Given the description of an element on the screen output the (x, y) to click on. 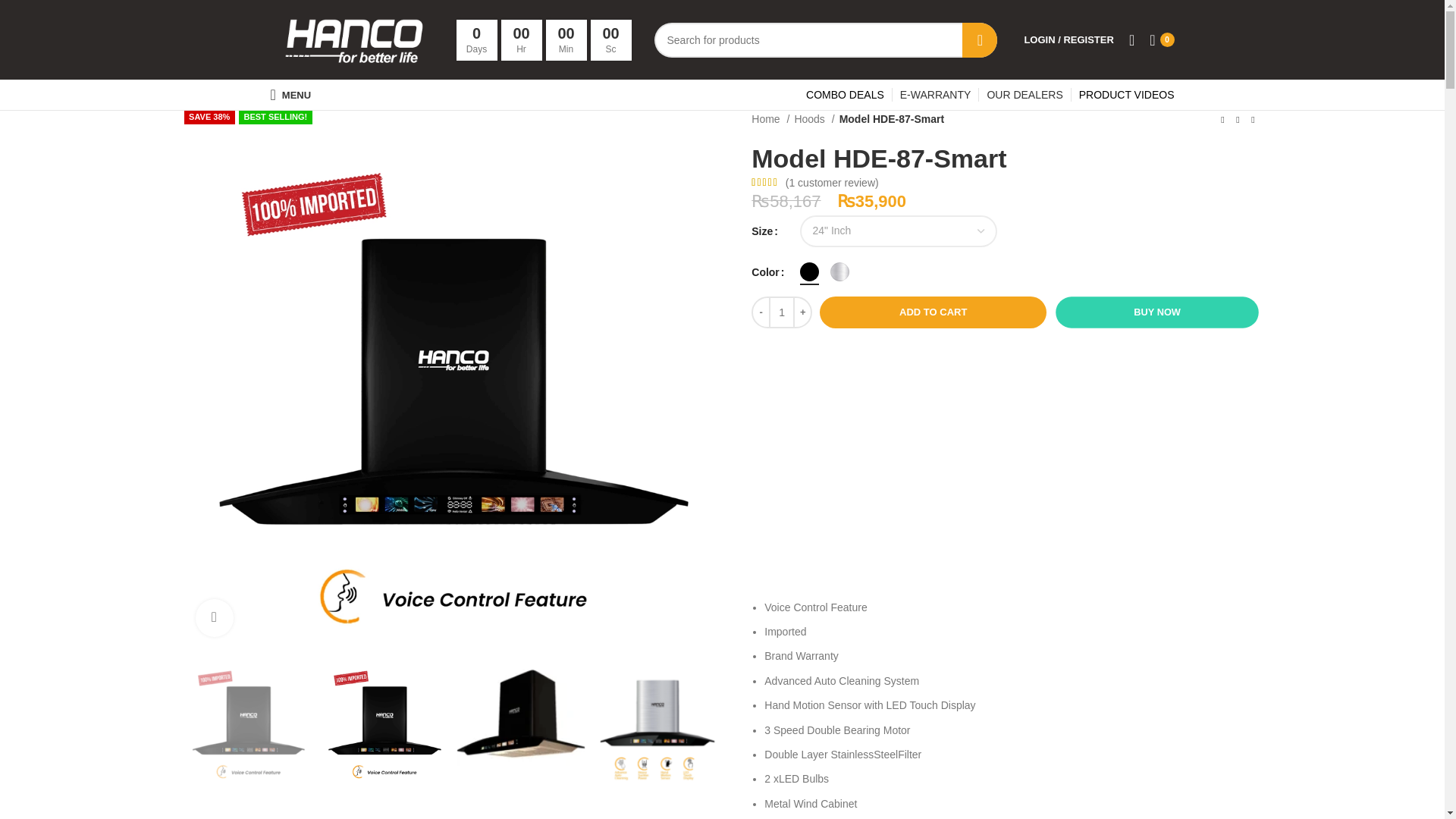
Home (770, 118)
- (760, 312)
ADD TO CART (932, 312)
My Wishlist (1131, 39)
OUR DEALERS (1024, 94)
Hoods (813, 118)
BUY NOW (1146, 310)
Shopping cart (1160, 39)
COMBO DEALS (844, 94)
My account (1068, 39)
E-WARRANTY (935, 94)
0 (1160, 39)
SEARCH (979, 39)
Search for products (825, 39)
YouTube video player (1005, 458)
